Given the description of an element on the screen output the (x, y) to click on. 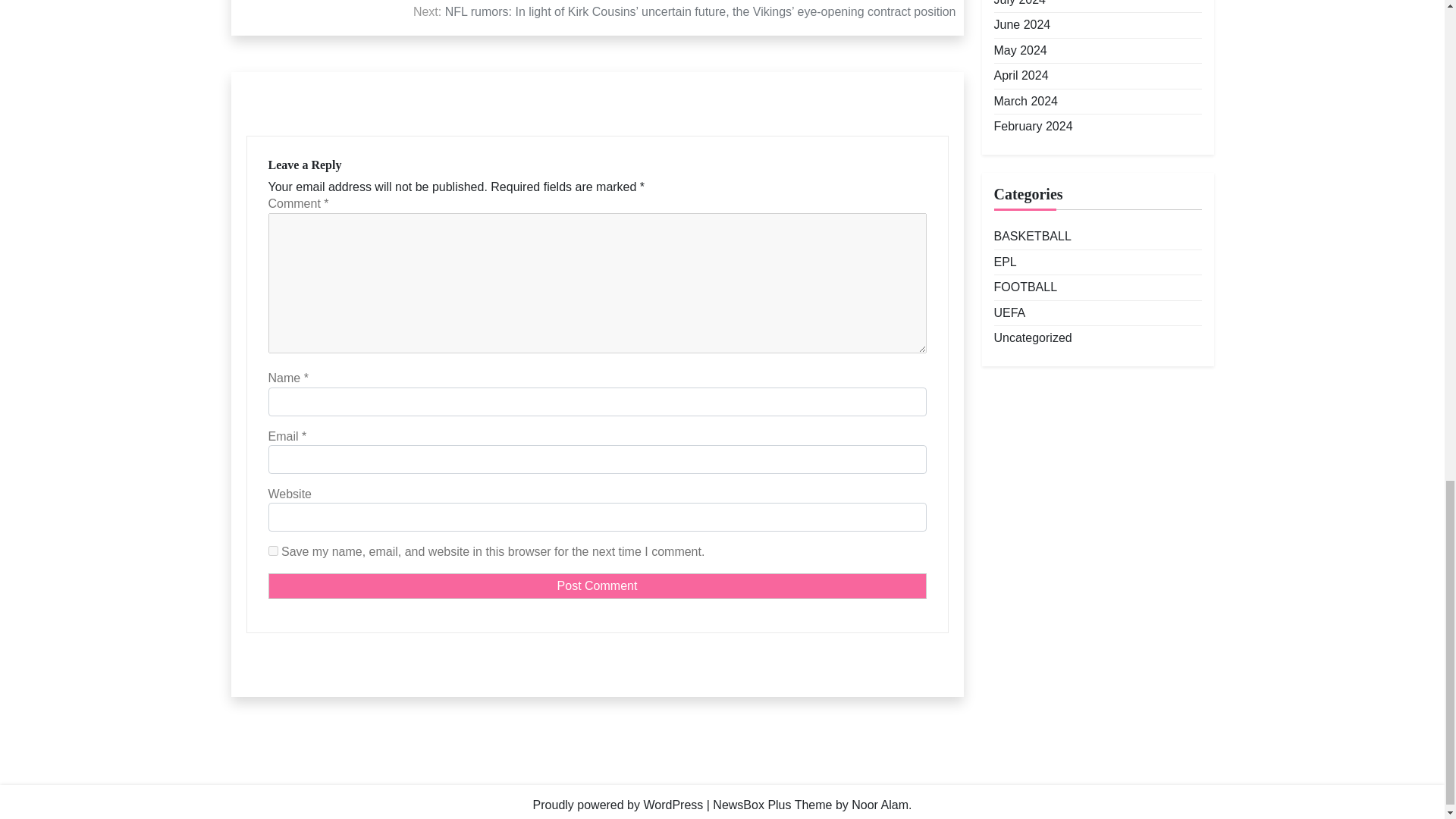
yes (272, 551)
May 2024 (1019, 50)
March 2024 (1025, 101)
June 2024 (1020, 24)
July 2024 (1018, 4)
Post Comment (596, 585)
April 2024 (1020, 75)
Post Comment (596, 585)
February 2024 (1031, 126)
